Given the description of an element on the screen output the (x, y) to click on. 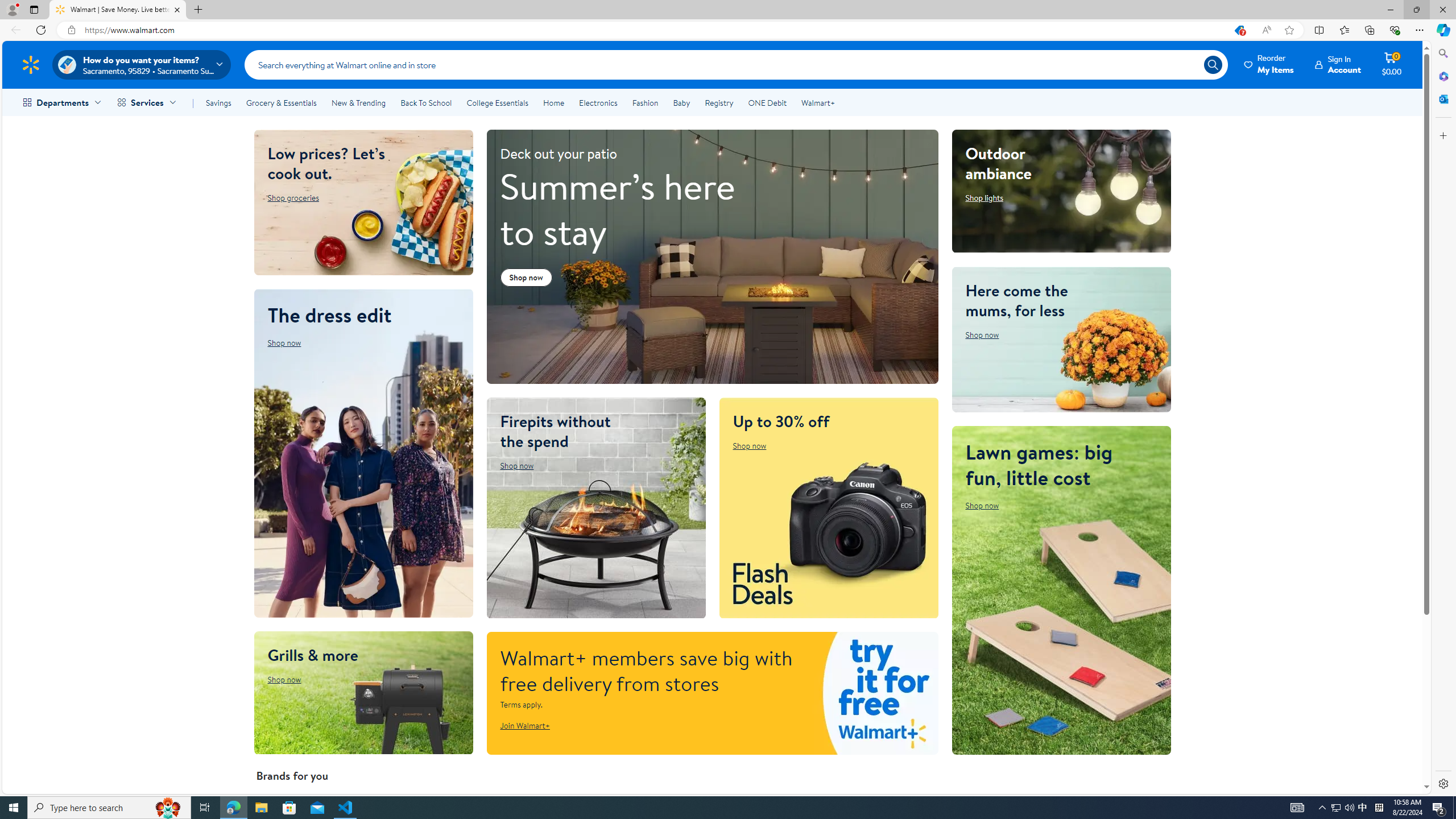
Shop now Up to 30% off (749, 445)
Cart contains 0 items Total Amount $0.00 (1391, 64)
Shop now Firepits without the spend (516, 465)
Savings (217, 102)
Class: undefined (1389, 64)
ONE Debit (767, 102)
Walmart | Save Money. Live better. (117, 9)
Shop now Here come the mums, for less (981, 334)
